Given the description of an element on the screen output the (x, y) to click on. 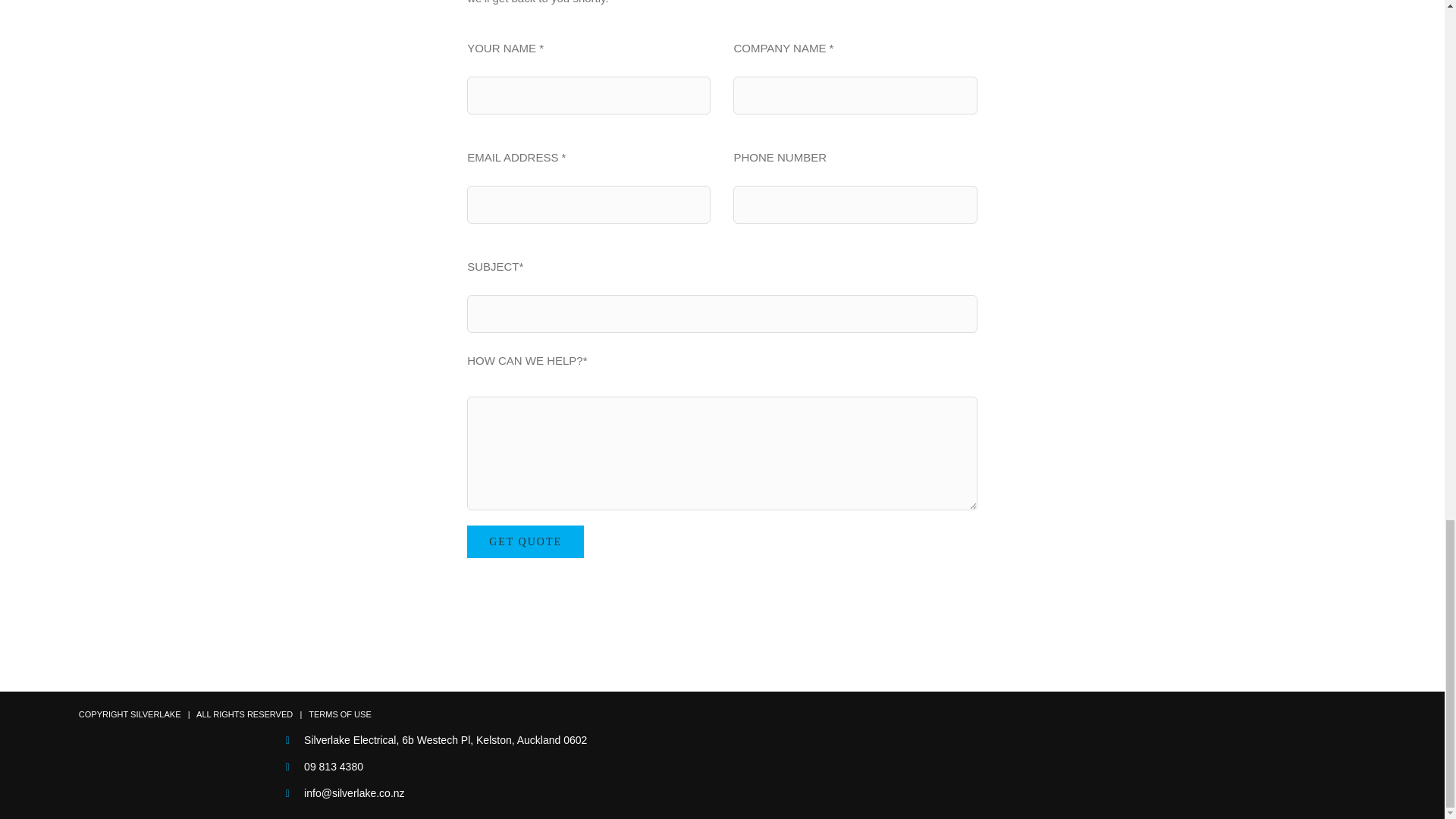
GET QUOTE (525, 541)
GET QUOTE (525, 541)
TERMS OF USE (339, 714)
